Given the description of an element on the screen output the (x, y) to click on. 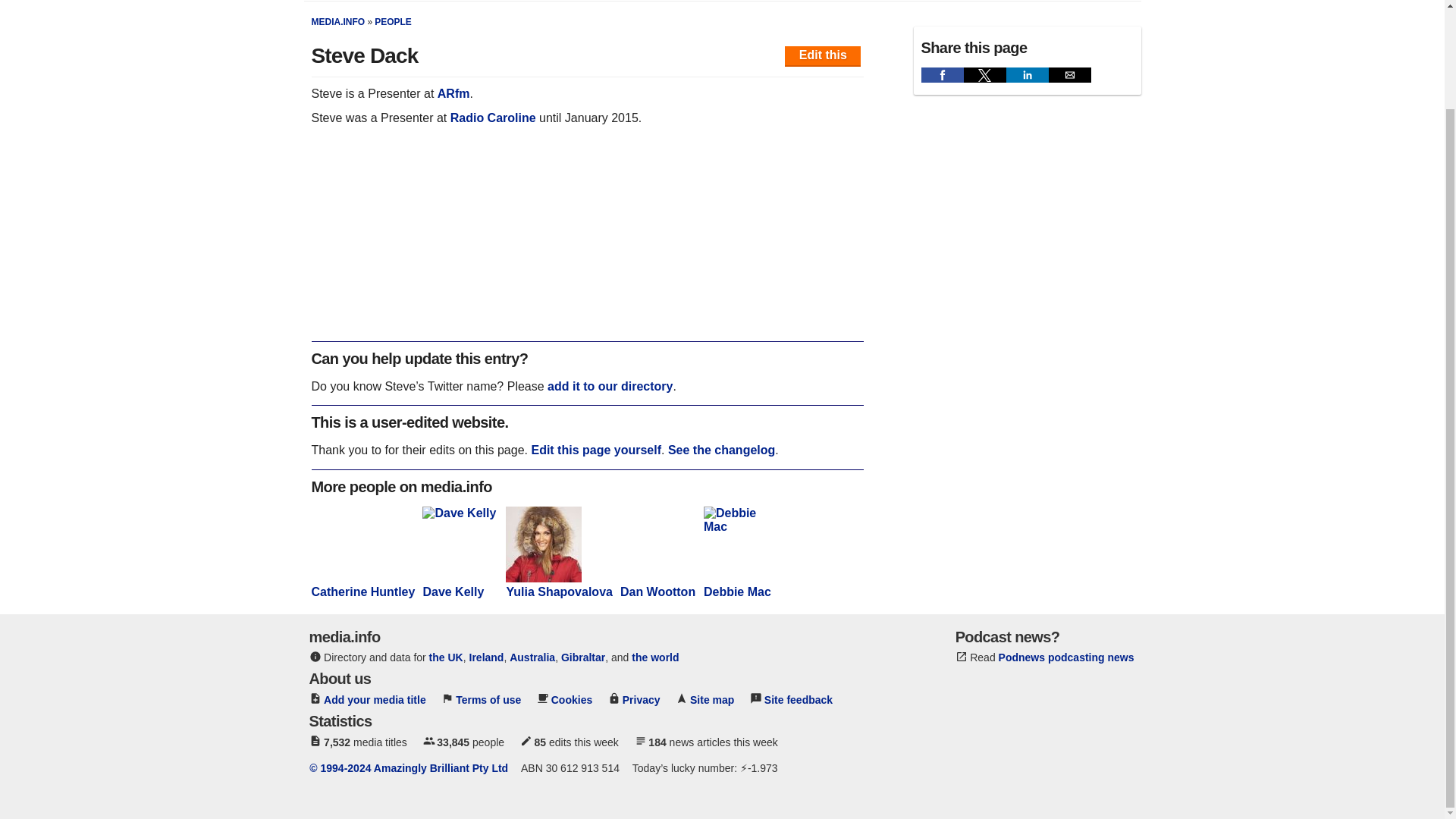
Yulia Shapovalova (558, 584)
Catherine Huntley (362, 584)
PEOPLE (393, 21)
Radio Caroline (492, 117)
the world (654, 657)
Edit this page yourself (596, 449)
the UK (446, 657)
Site map (711, 699)
